Given the description of an element on the screen output the (x, y) to click on. 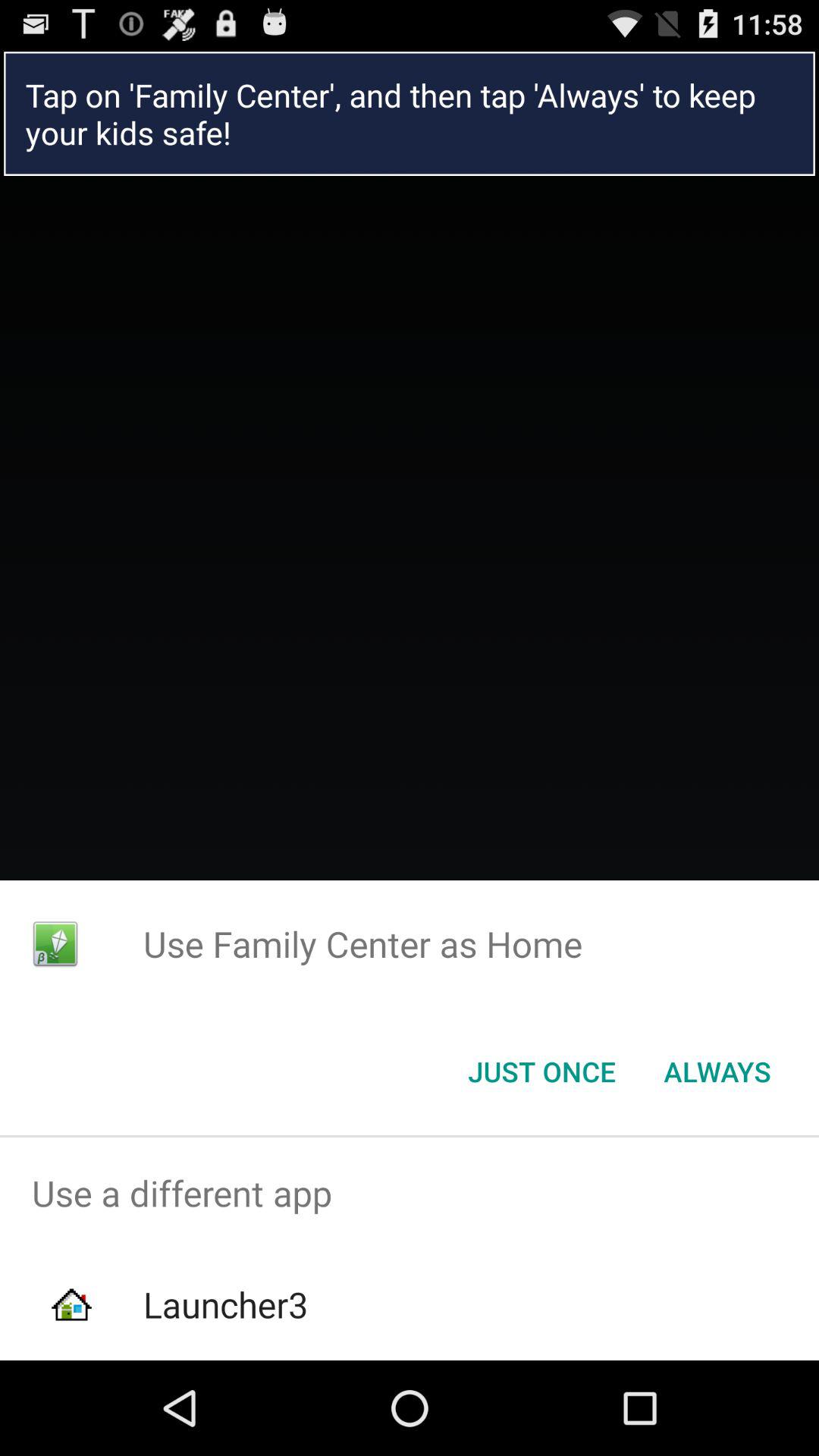
turn off the item to the left of the always item (541, 1071)
